Given the description of an element on the screen output the (x, y) to click on. 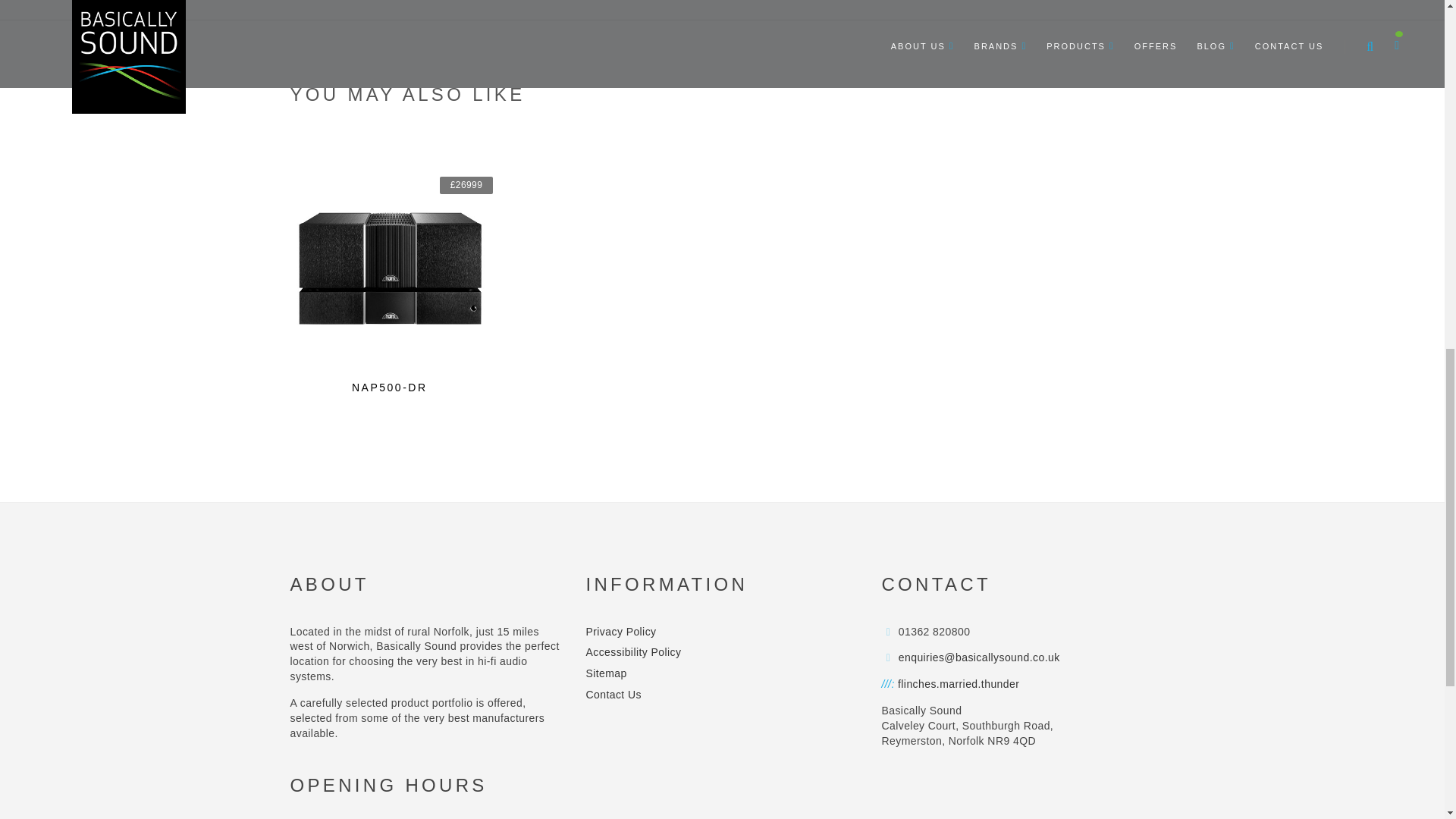
Privacy Policy (620, 635)
Accessibility Policy (633, 655)
Contact Us (612, 698)
Sitemap (605, 676)
What3words Link - Basically Sound (958, 684)
